Given the description of an element on the screen output the (x, y) to click on. 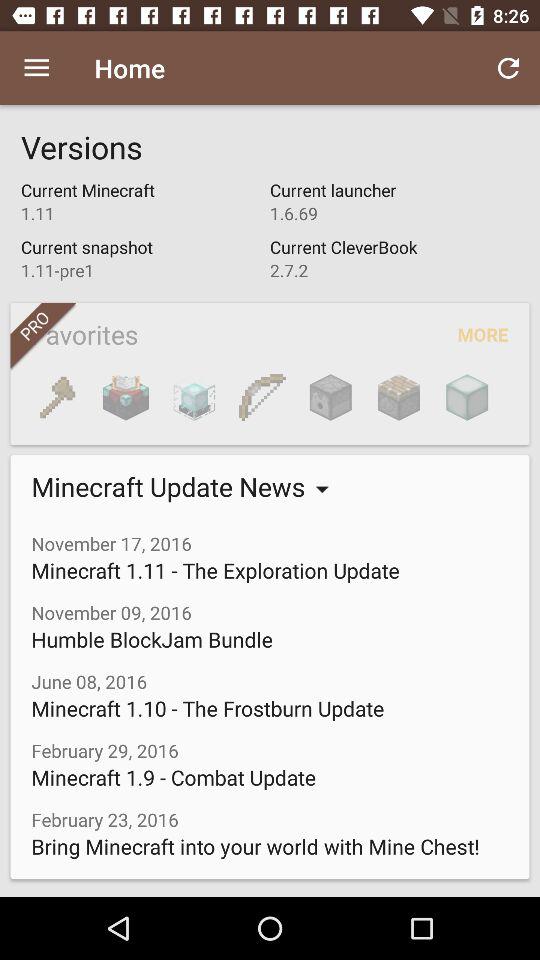
turn on the item next to home icon (508, 67)
